Given the description of an element on the screen output the (x, y) to click on. 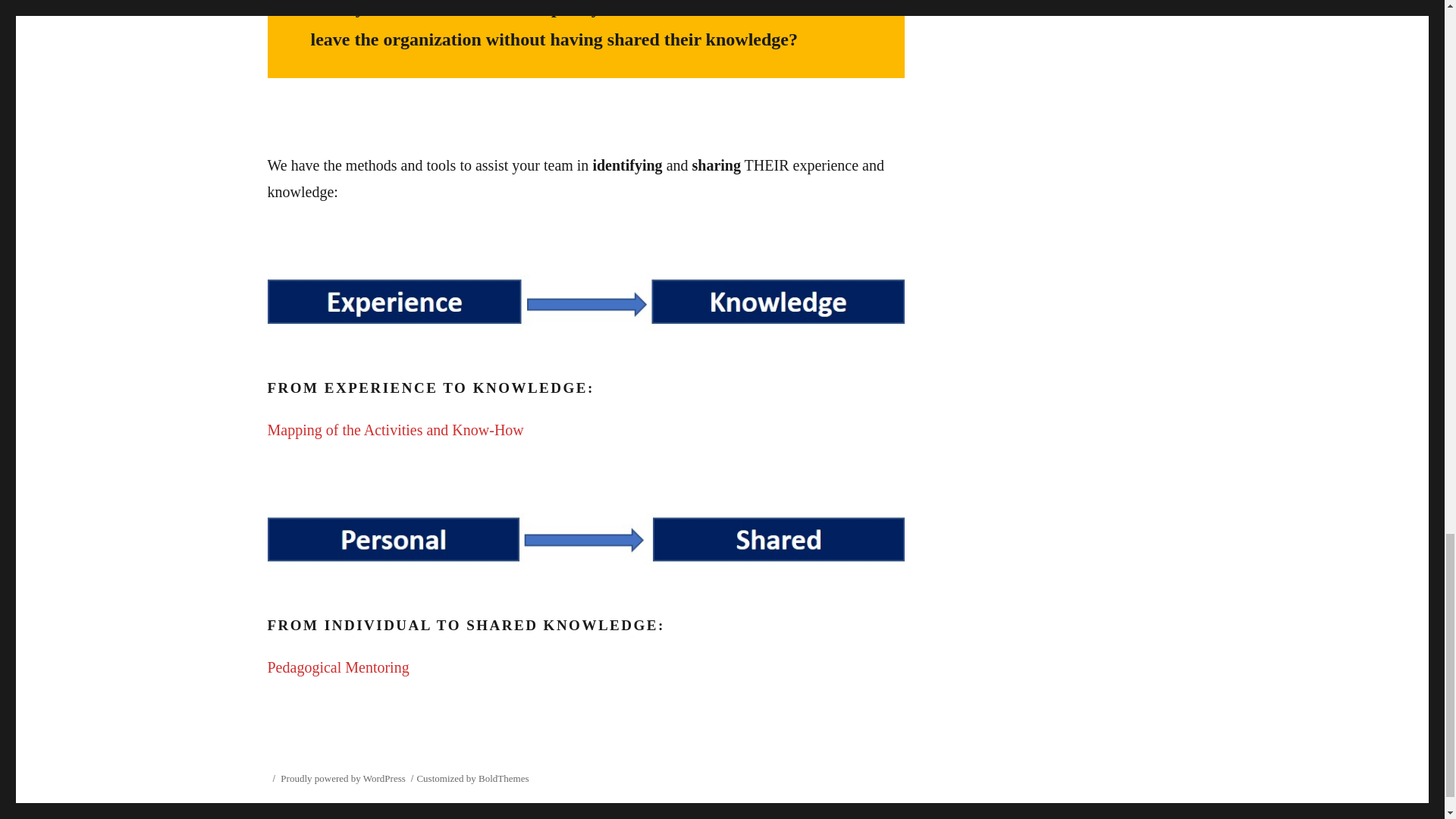
Customized by BoldThemes (472, 778)
Proudly powered by WordPress (342, 778)
